Given the description of an element on the screen output the (x, y) to click on. 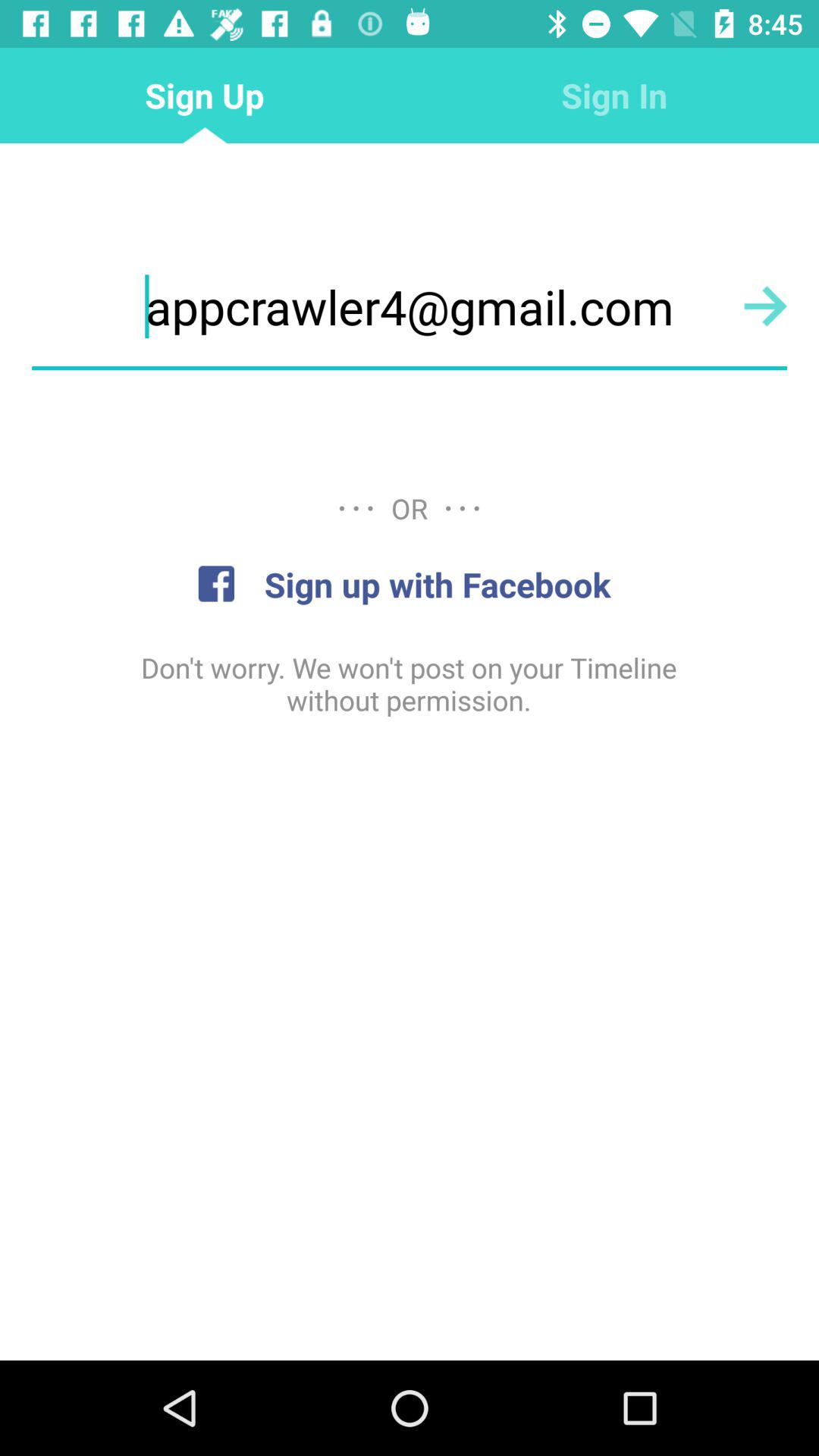
flip until the sign in icon (614, 95)
